Given the description of an element on the screen output the (x, y) to click on. 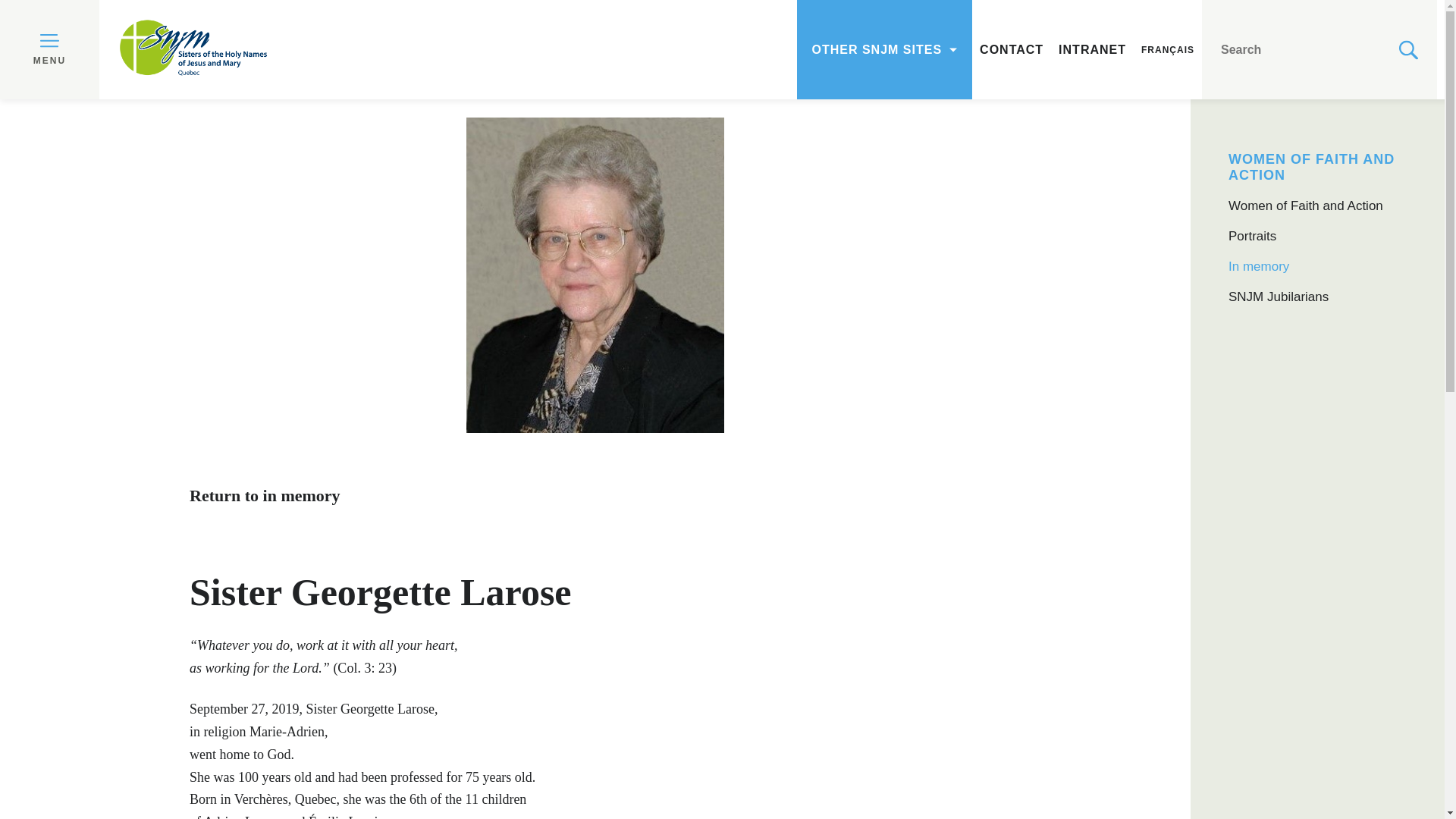
OTHER SNJM SITES (883, 49)
INTRANET (1091, 48)
CONTACT (1011, 48)
